Given the description of an element on the screen output the (x, y) to click on. 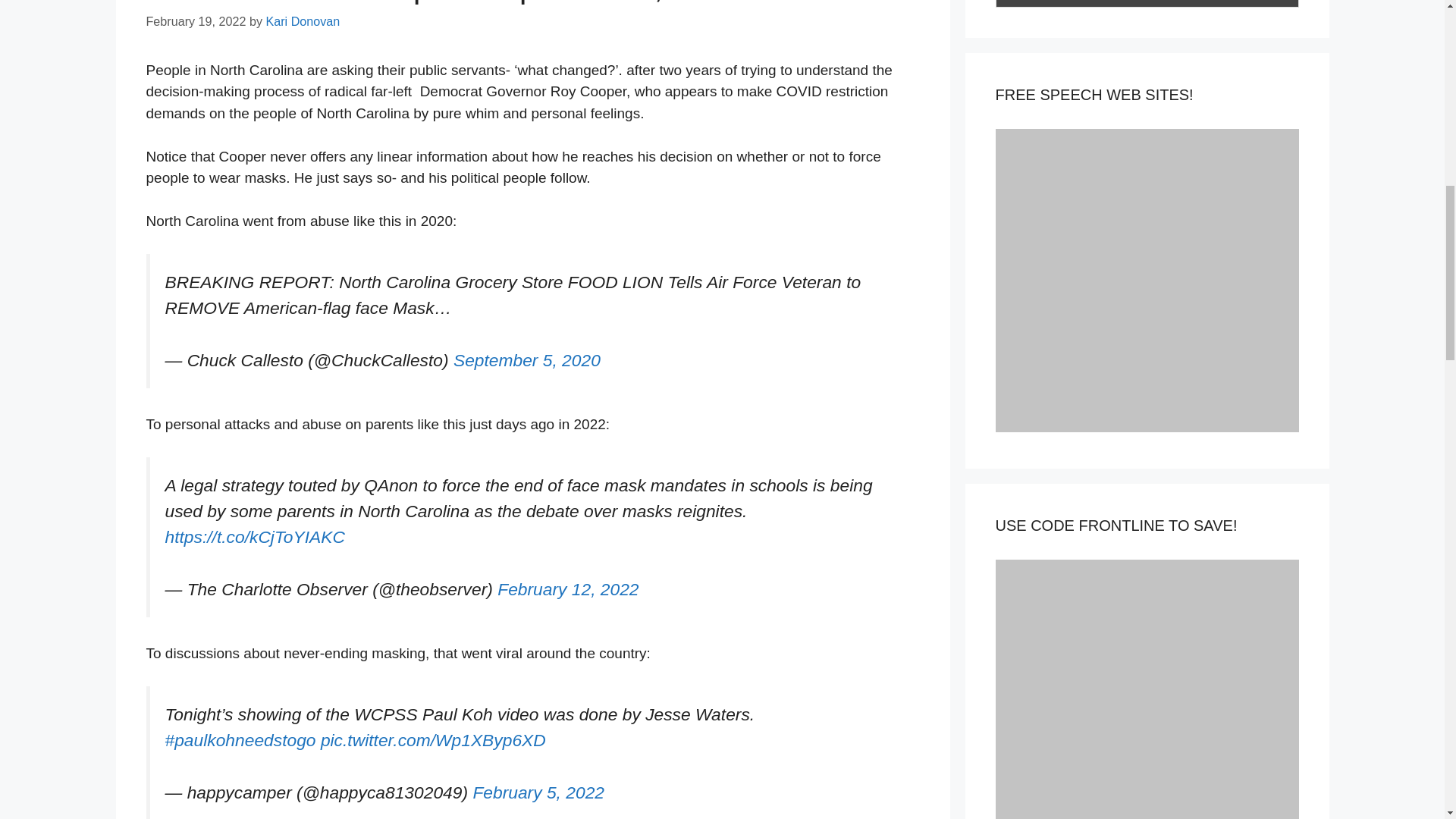
Subscribe (1146, 3)
Kari Donovan (301, 20)
View all posts by Kari Donovan (301, 20)
February 5, 2022 (537, 792)
February 12, 2022 (568, 588)
September 5, 2020 (525, 360)
